Given the description of an element on the screen output the (x, y) to click on. 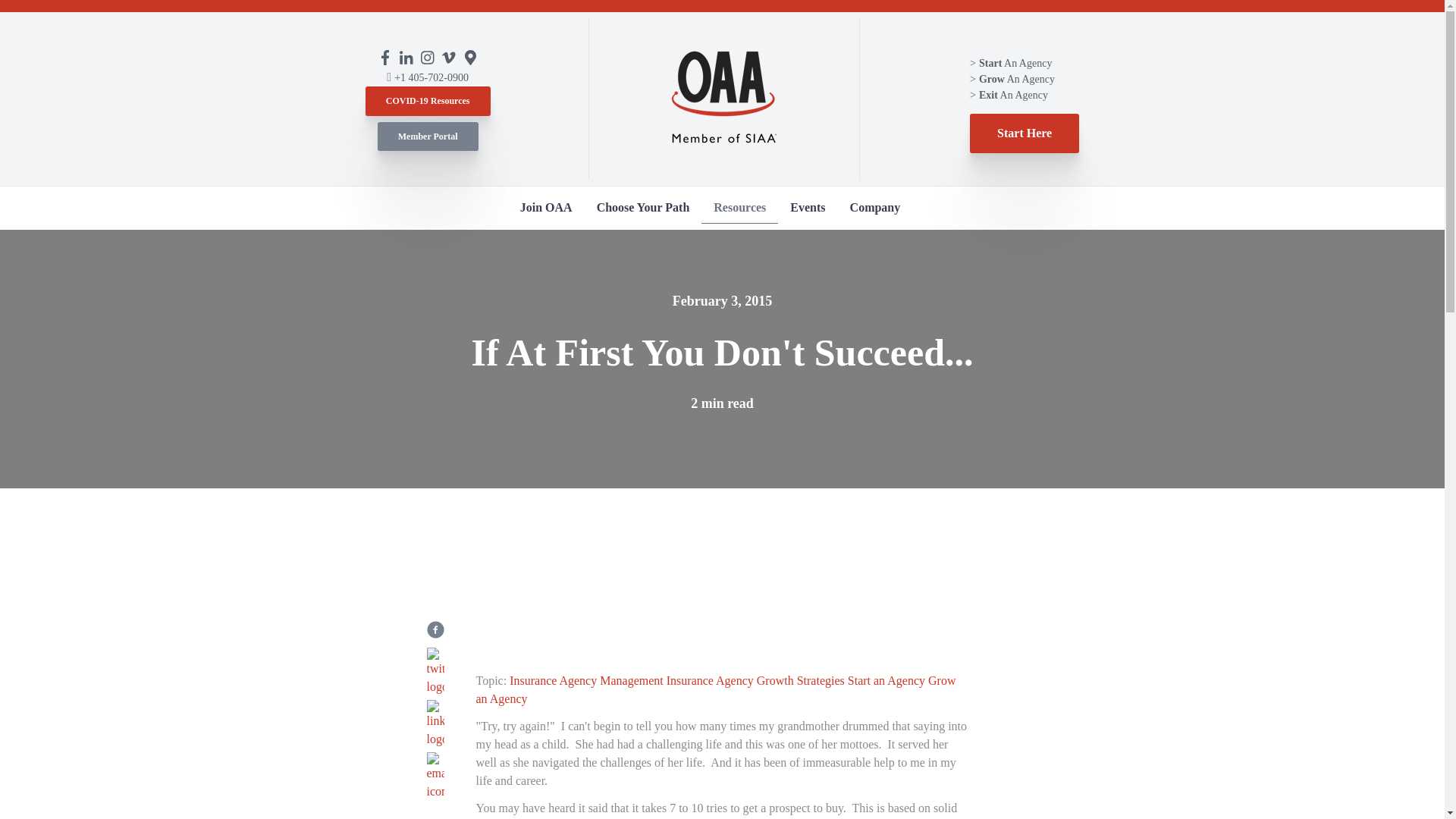
Grow An Agency (1011, 79)
Start An Agency (1010, 62)
COVID-19 Resources (427, 100)
Start Here (1023, 132)
Choose Your Path (643, 207)
Join OAA (546, 207)
OAA-BrandStandard-V2-9 copy (724, 98)
Member Portal (428, 135)
Exit An Agency (1008, 94)
